Given the description of an element on the screen output the (x, y) to click on. 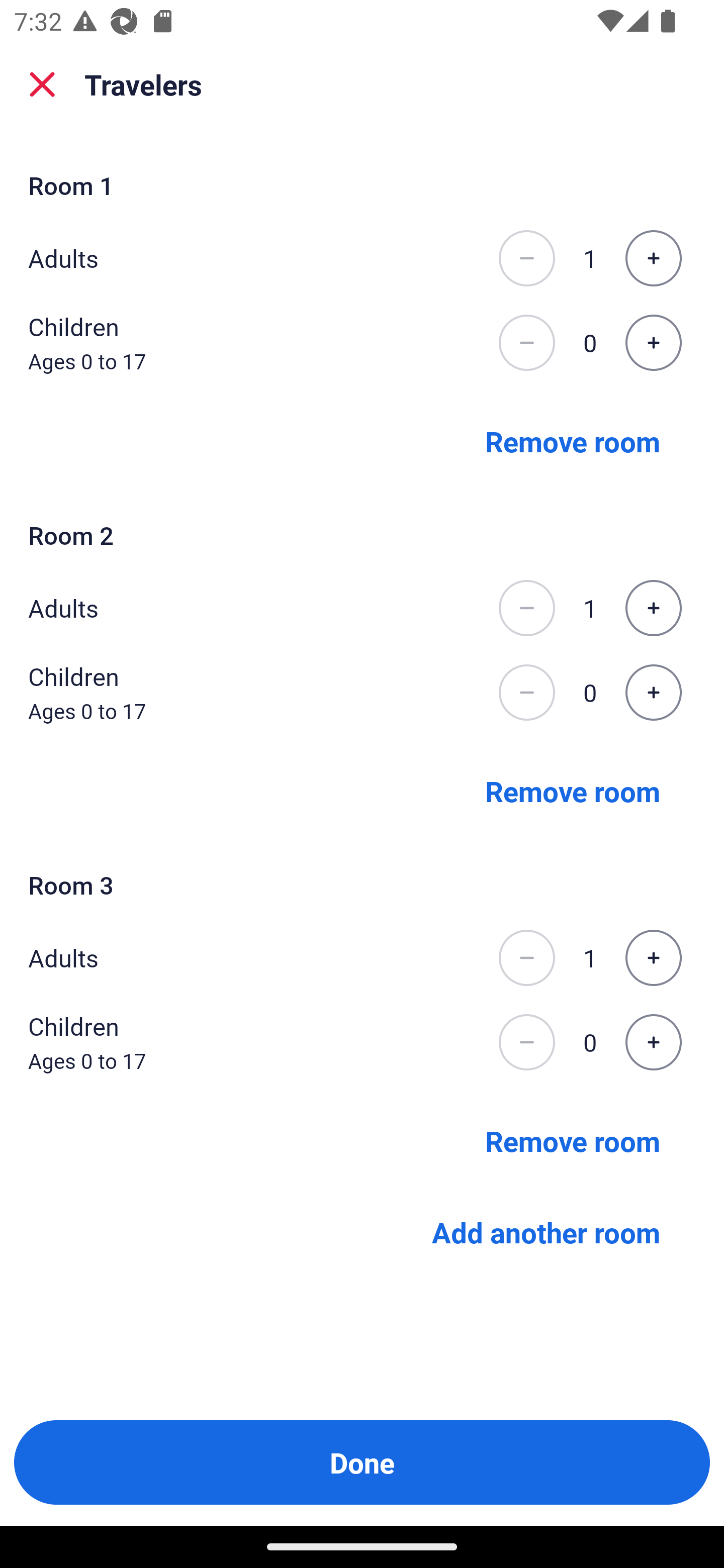
close (42, 84)
Decrease the number of adults (526, 258)
Increase the number of adults (653, 258)
Decrease the number of children (526, 343)
Increase the number of children (653, 343)
Remove room (572, 440)
Decrease the number of adults (526, 608)
Increase the number of adults (653, 608)
Decrease the number of children (526, 692)
Increase the number of children (653, 692)
Remove room (572, 790)
Decrease the number of adults (526, 957)
Increase the number of adults (653, 957)
Decrease the number of children (526, 1042)
Increase the number of children (653, 1042)
Remove room (572, 1140)
Add another room (545, 1232)
Done (361, 1462)
